Given the description of an element on the screen output the (x, y) to click on. 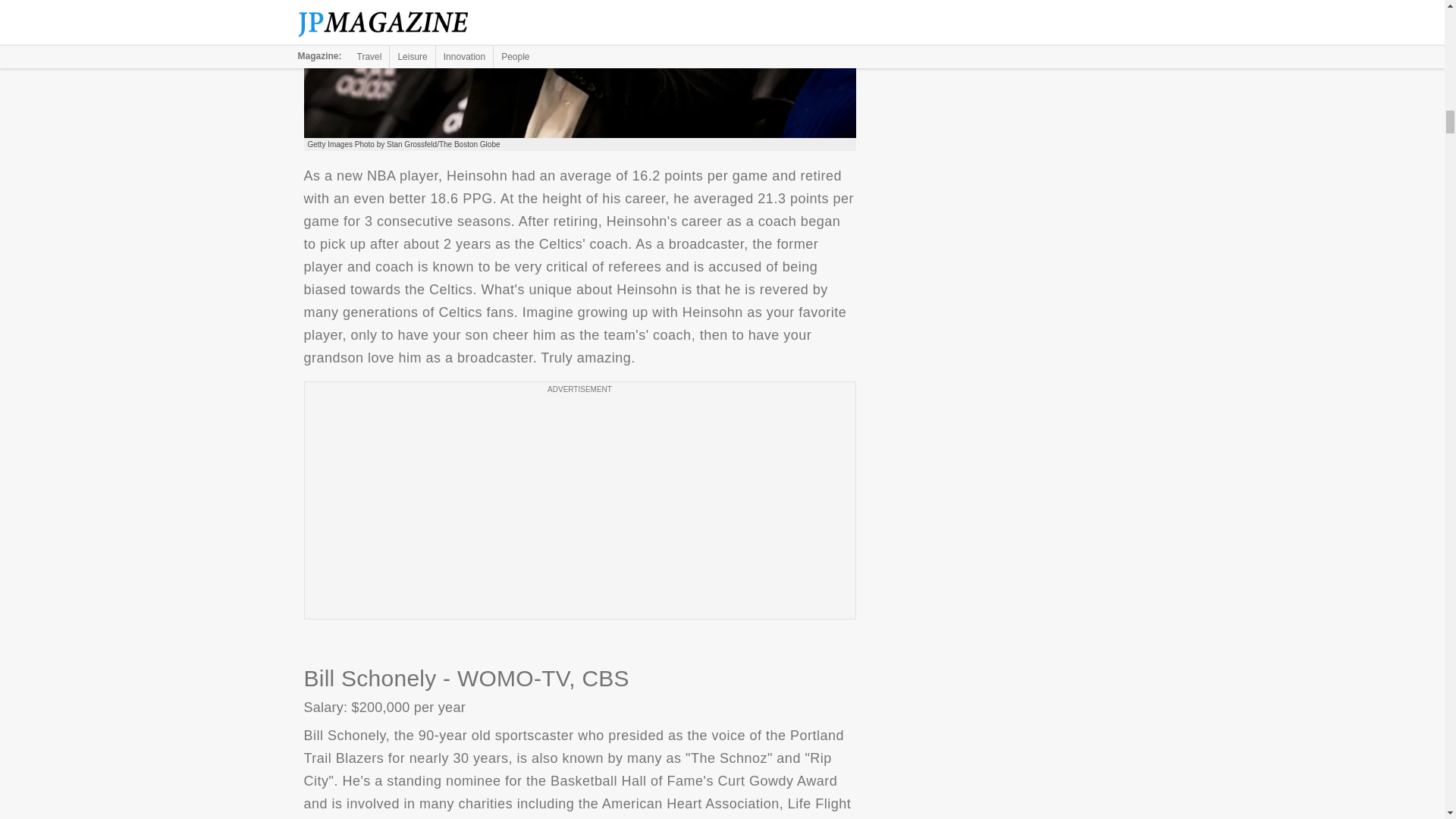
Tom Heinsohn - CBS (579, 69)
